Given the description of an element on the screen output the (x, y) to click on. 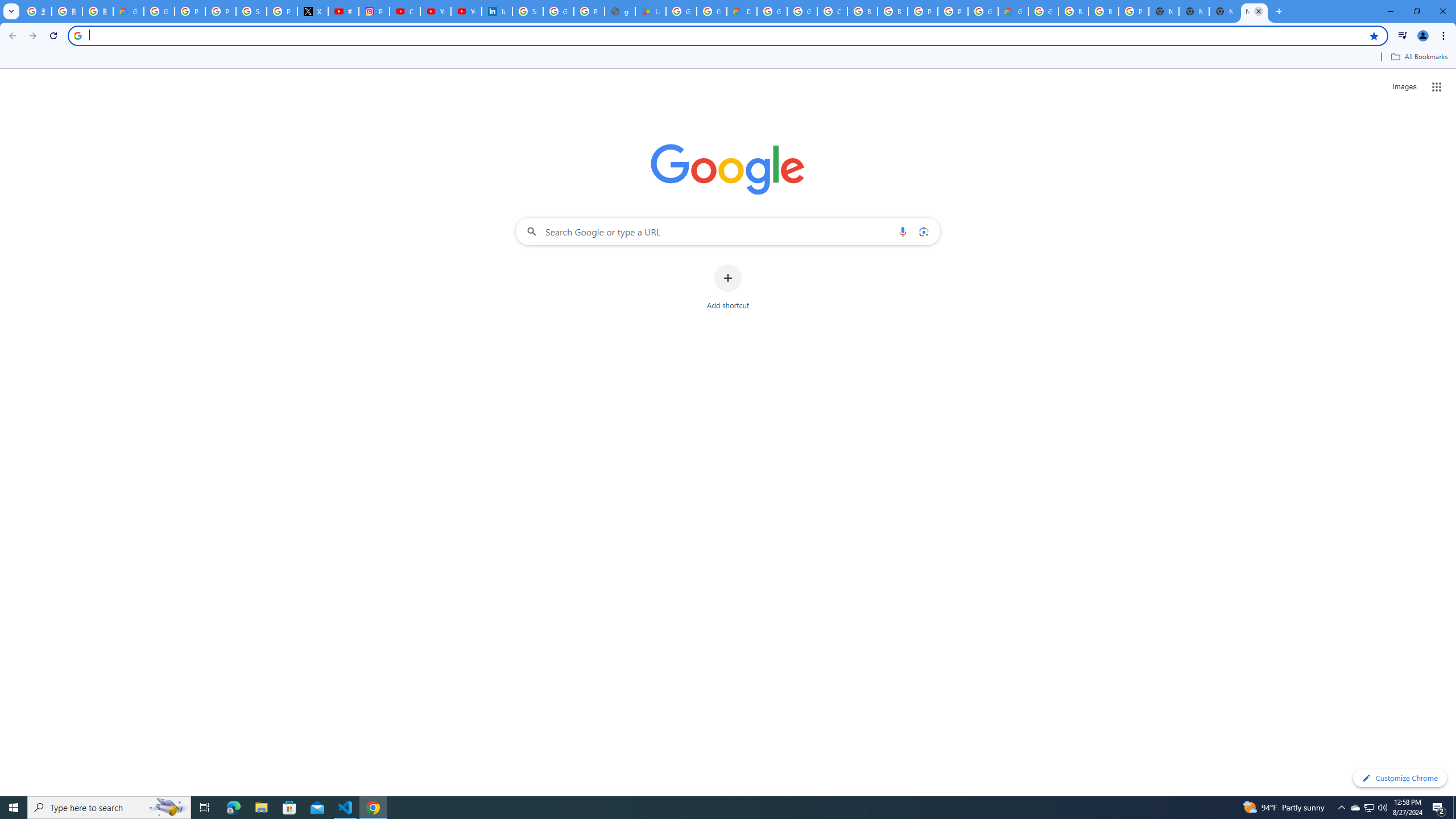
Add shortcut (727, 287)
